Given the description of an element on the screen output the (x, y) to click on. 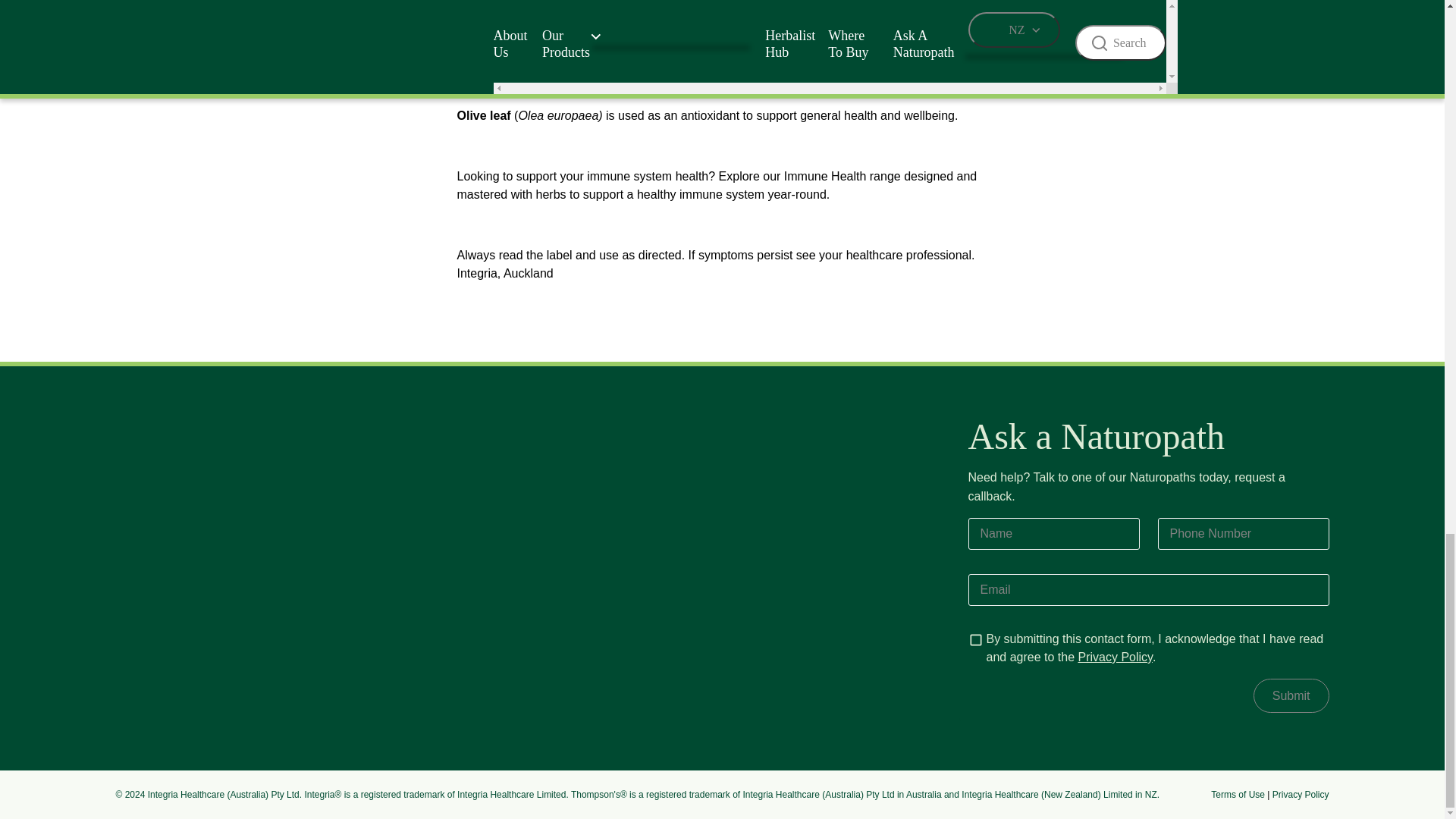
Privacy Policy (1300, 794)
Terms of Use (1238, 794)
Privacy Policy (1114, 656)
Submit (1291, 695)
